Given the description of an element on the screen output the (x, y) to click on. 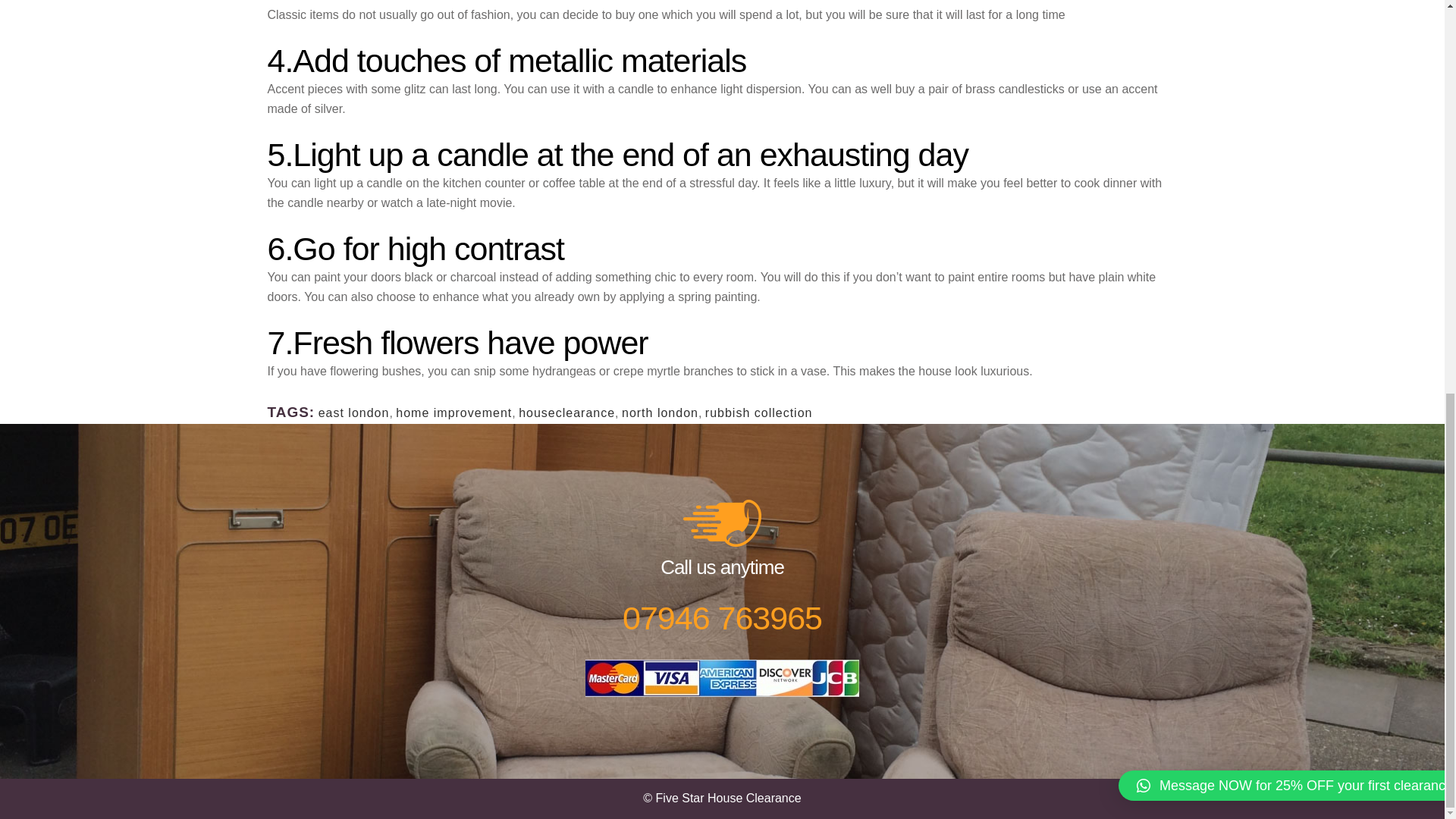
rubbish collection (758, 412)
houseclearance (566, 412)
east london (354, 412)
north london (659, 412)
home improvement (454, 412)
07946 763965 (722, 617)
